Given the description of an element on the screen output the (x, y) to click on. 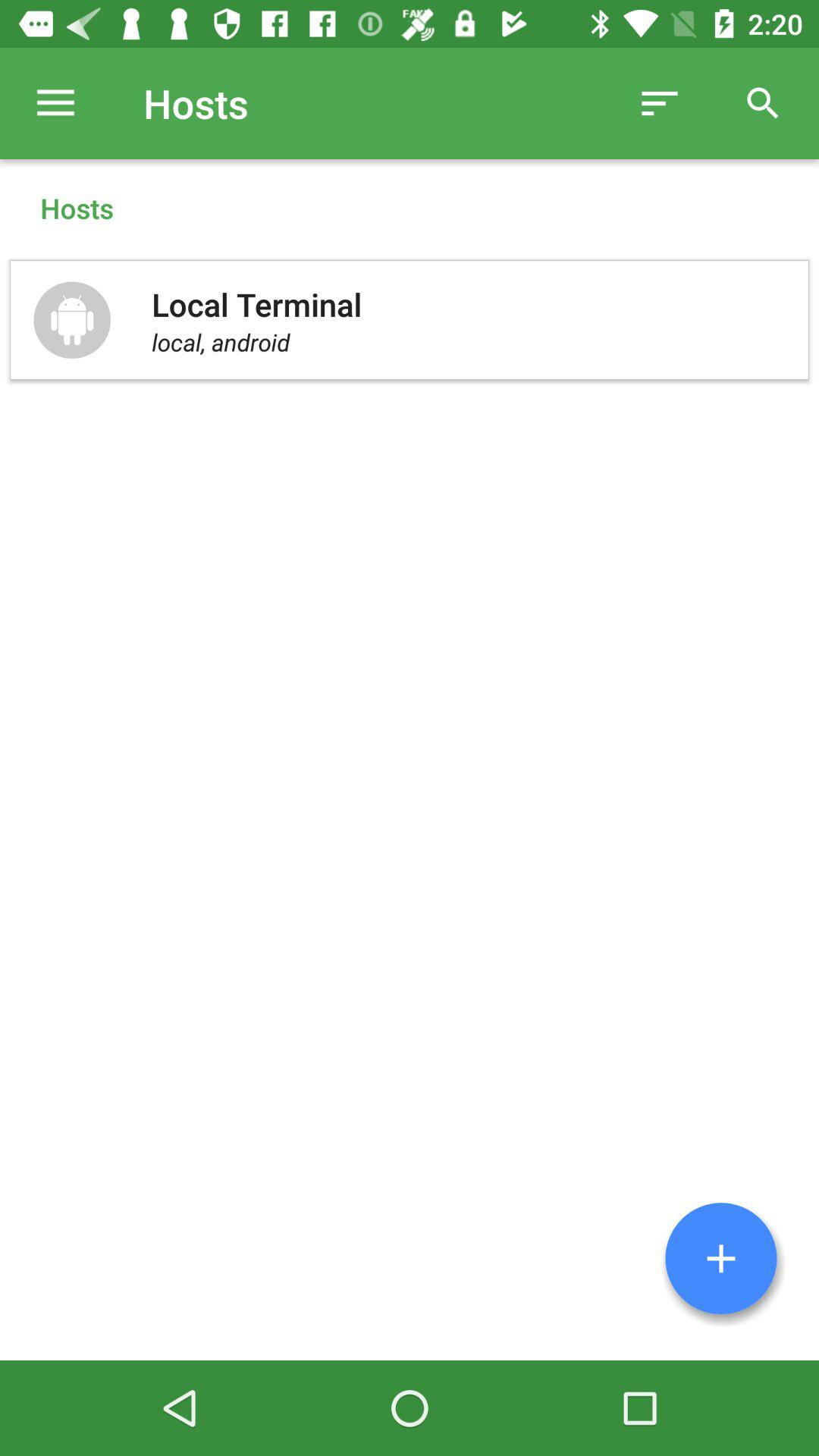
select the icon next to the hosts (659, 103)
